Given the description of an element on the screen output the (x, y) to click on. 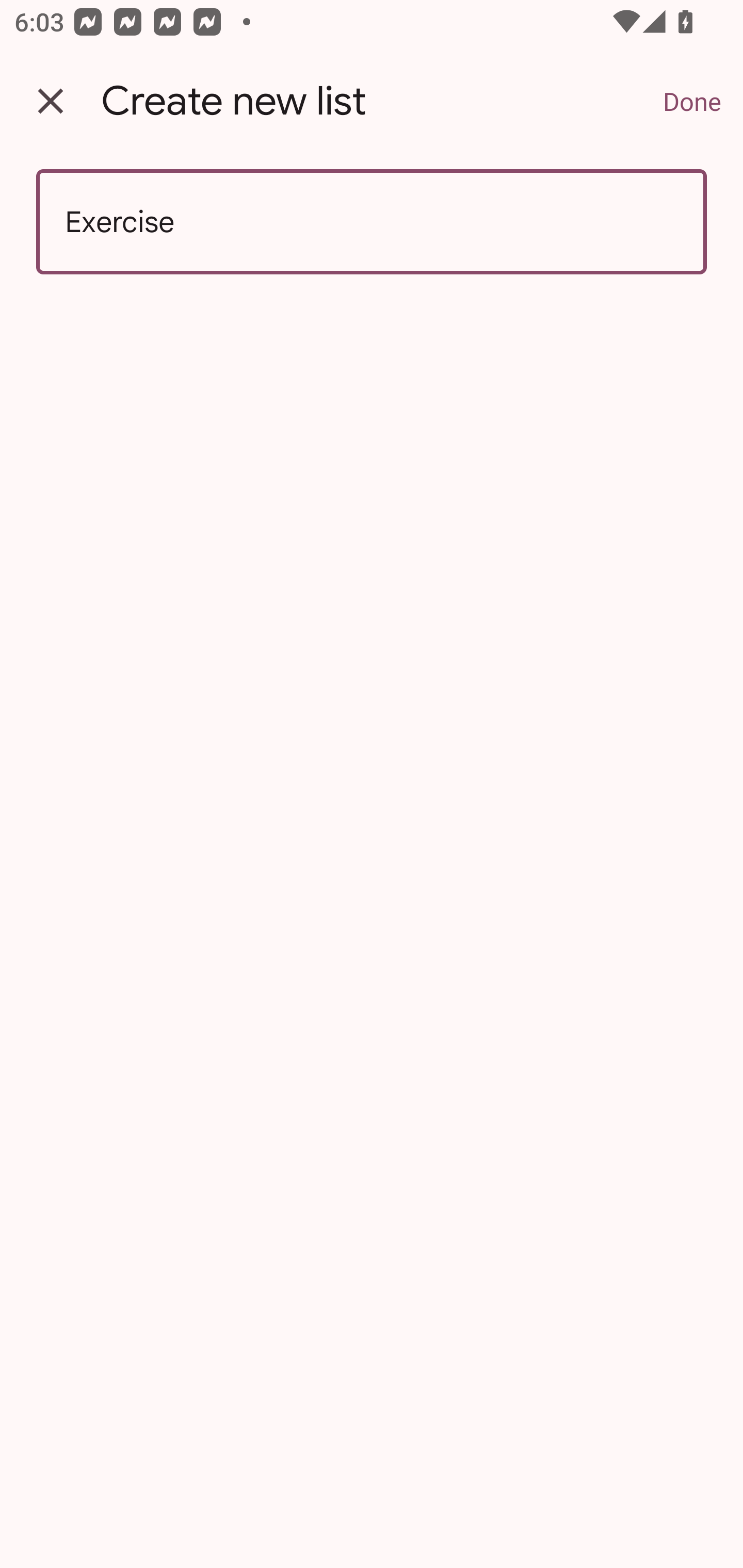
Back (50, 101)
Done (692, 101)
Exercise (371, 221)
